Given the description of an element on the screen output the (x, y) to click on. 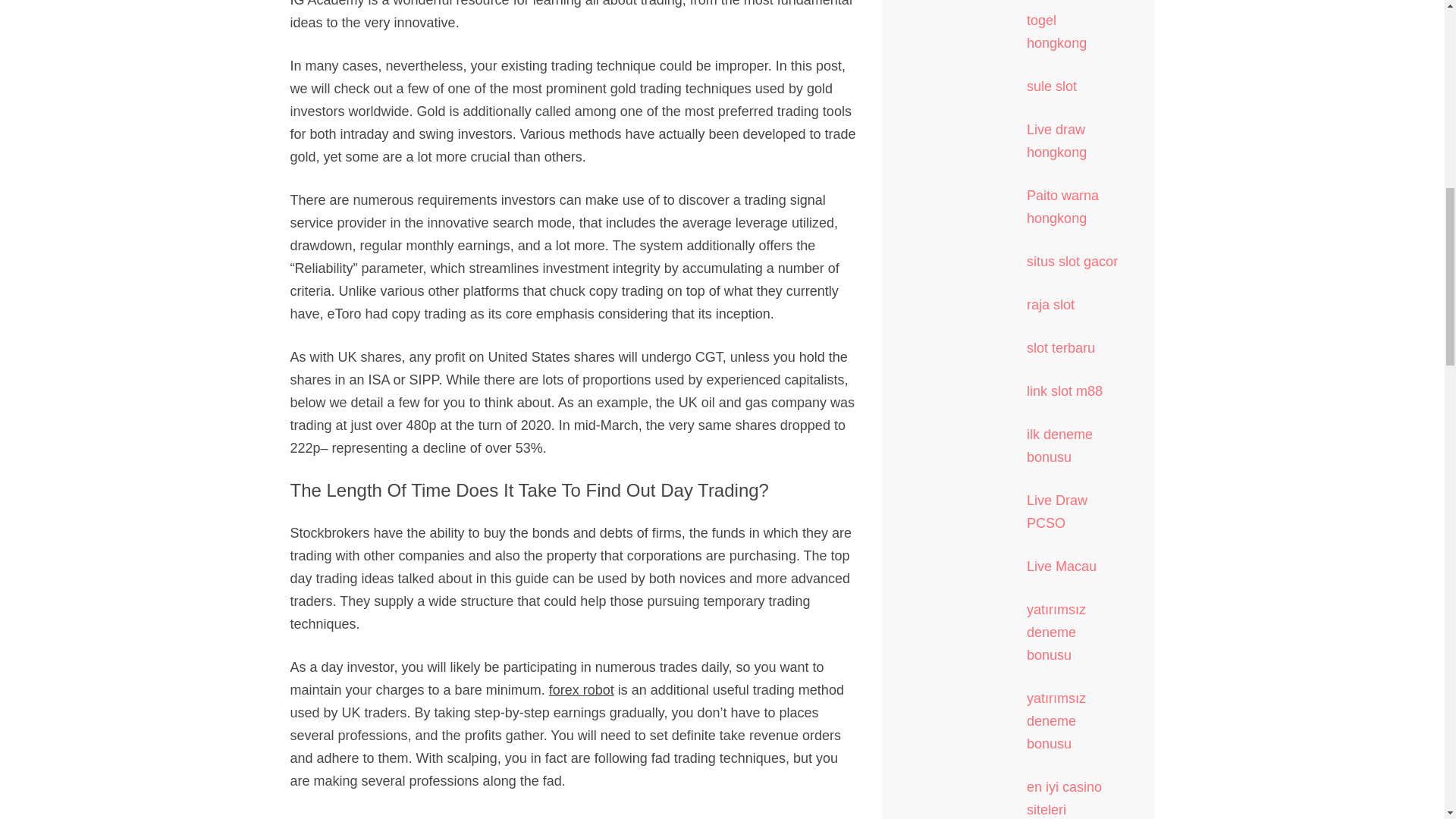
raja slot (1050, 304)
slot terbaru (1060, 347)
situs slot gacor (1072, 261)
Live draw hongkong (1056, 140)
Live Macau (1061, 566)
en iyi casino siteleri (1064, 798)
link slot m88 (1064, 391)
sule slot (1051, 86)
Paito warna hongkong (1062, 207)
ilk deneme bonusu (1059, 445)
